Given the description of an element on the screen output the (x, y) to click on. 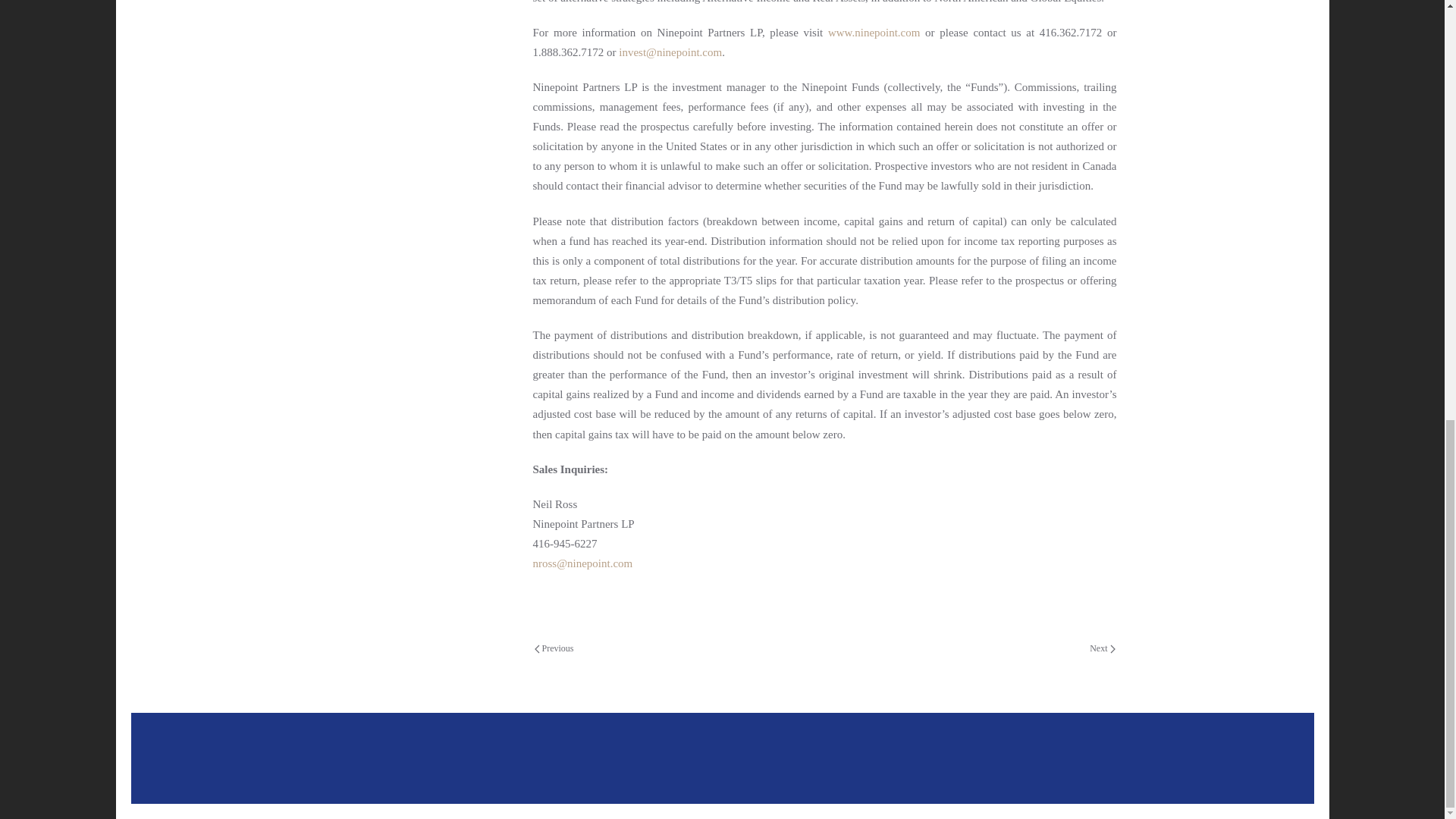
Previous (553, 649)
Next (1101, 649)
www.ninepoint.com (874, 32)
www.ninepoint.com (874, 32)
